Given the description of an element on the screen output the (x, y) to click on. 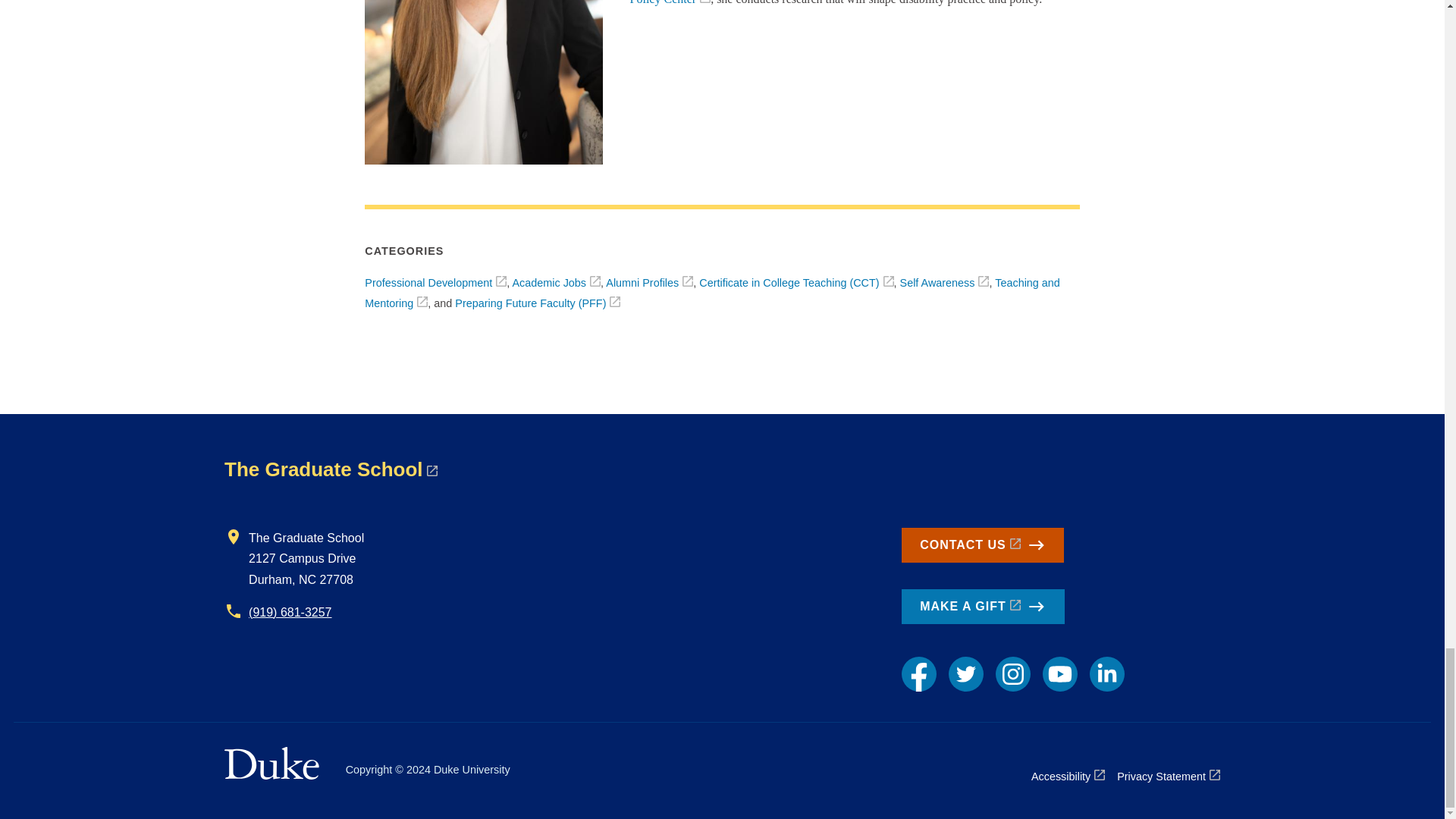
Instagram link (1012, 673)
YouTube link (1059, 673)
Facebook link (918, 673)
Twitter link (966, 673)
LinkedIn link (1106, 673)
